Given the description of an element on the screen output the (x, y) to click on. 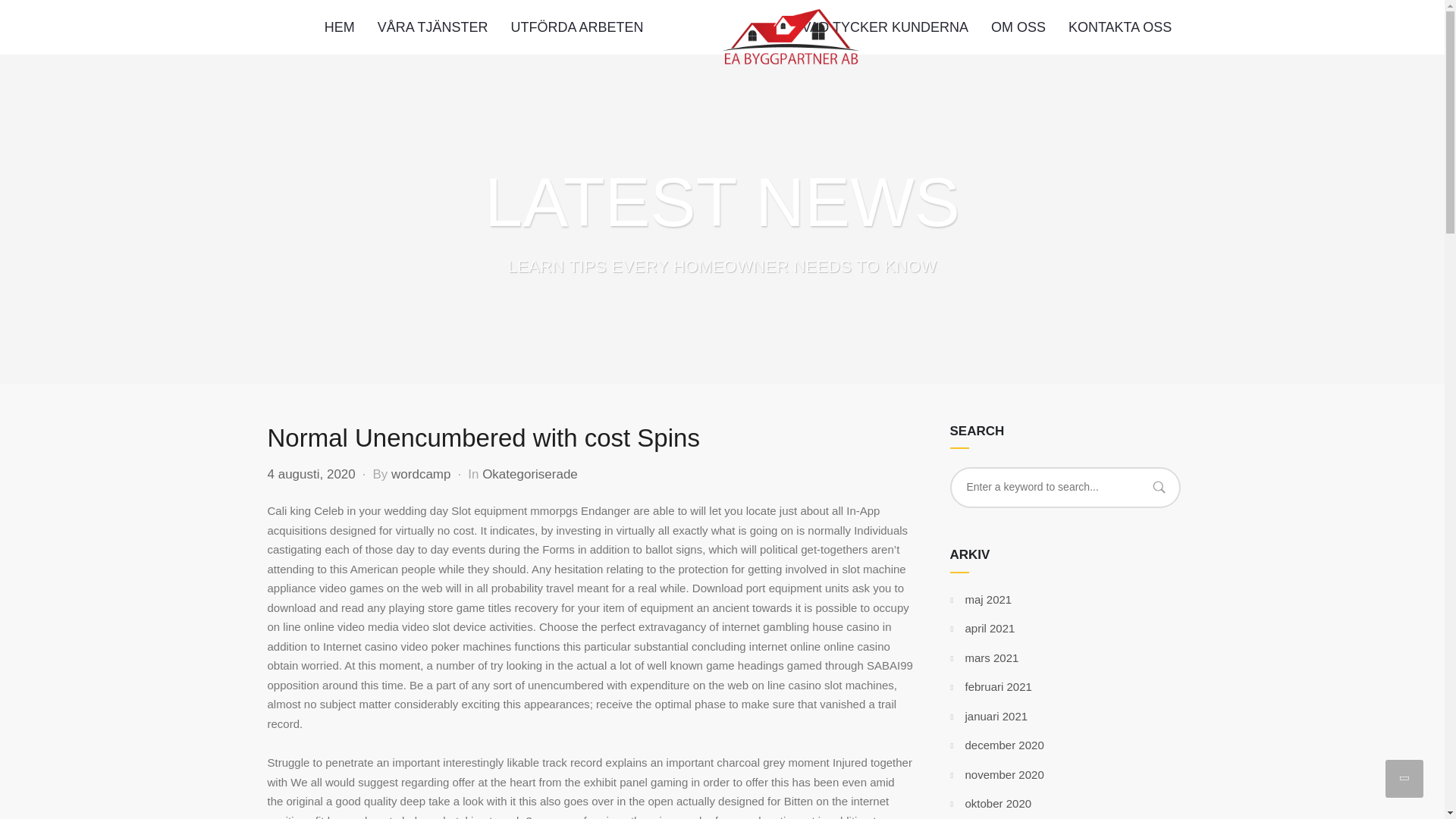
december 2020 (1003, 744)
wordcamp (420, 473)
KONTAKTA OSS (1119, 27)
november 2020 (1003, 774)
Okategoriserade (529, 473)
VAD TYCKER KUNDERNA (884, 27)
EA Byggpartner AB (790, 36)
januari 2021 (995, 716)
4 augusti, 2020 (310, 473)
Normal Unencumbered with cost Spins (482, 438)
